Given the description of an element on the screen output the (x, y) to click on. 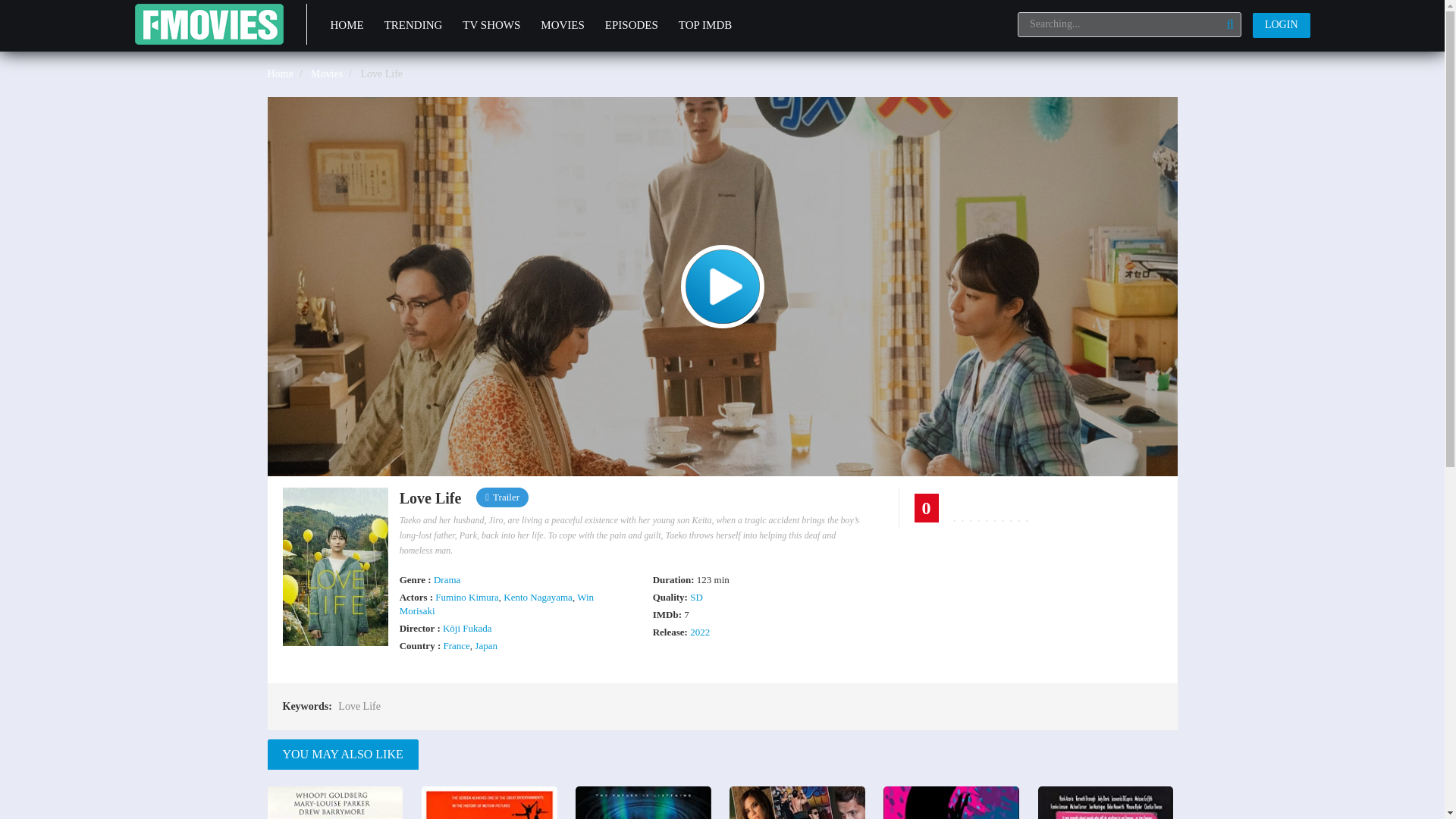
TV SHOWS (491, 25)
Frequency (643, 802)
MOVIES (562, 25)
TOP IMDB (705, 25)
Celebrity (1105, 802)
Love Life (359, 706)
Drama (446, 579)
EPISODES (630, 25)
Sanctioned to Die (796, 802)
TRENDING (413, 25)
Trailer (506, 496)
Japan (485, 645)
LOGIN (1281, 25)
2022 (700, 632)
Login (1281, 25)
